Given the description of an element on the screen output the (x, y) to click on. 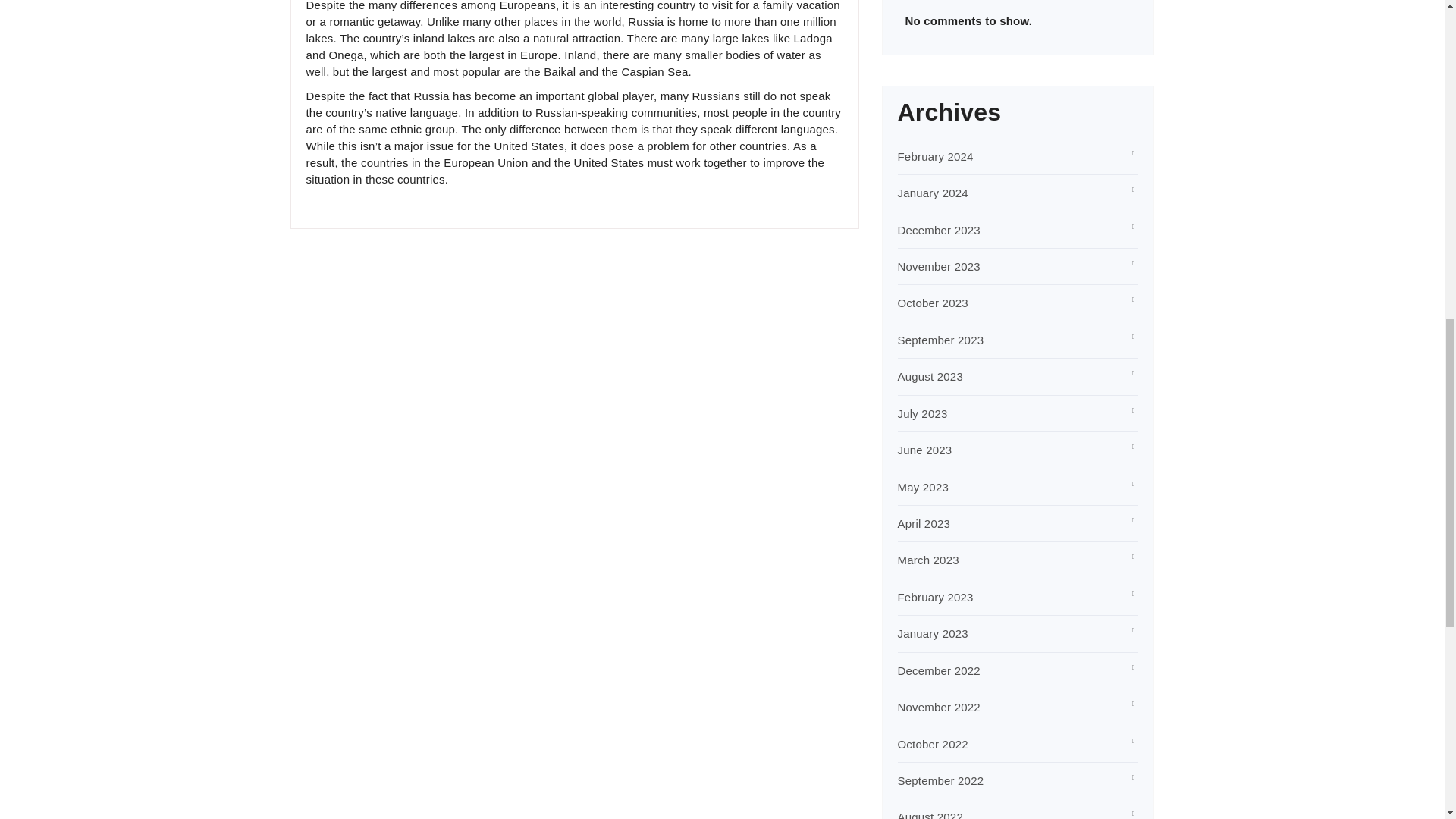
April 2023 (924, 522)
March 2023 (928, 559)
June 2023 (925, 449)
December 2023 (938, 229)
January 2024 (933, 192)
December 2022 (938, 670)
October 2023 (933, 302)
September 2023 (941, 339)
February 2024 (936, 155)
January 2023 (933, 633)
